Given the description of an element on the screen output the (x, y) to click on. 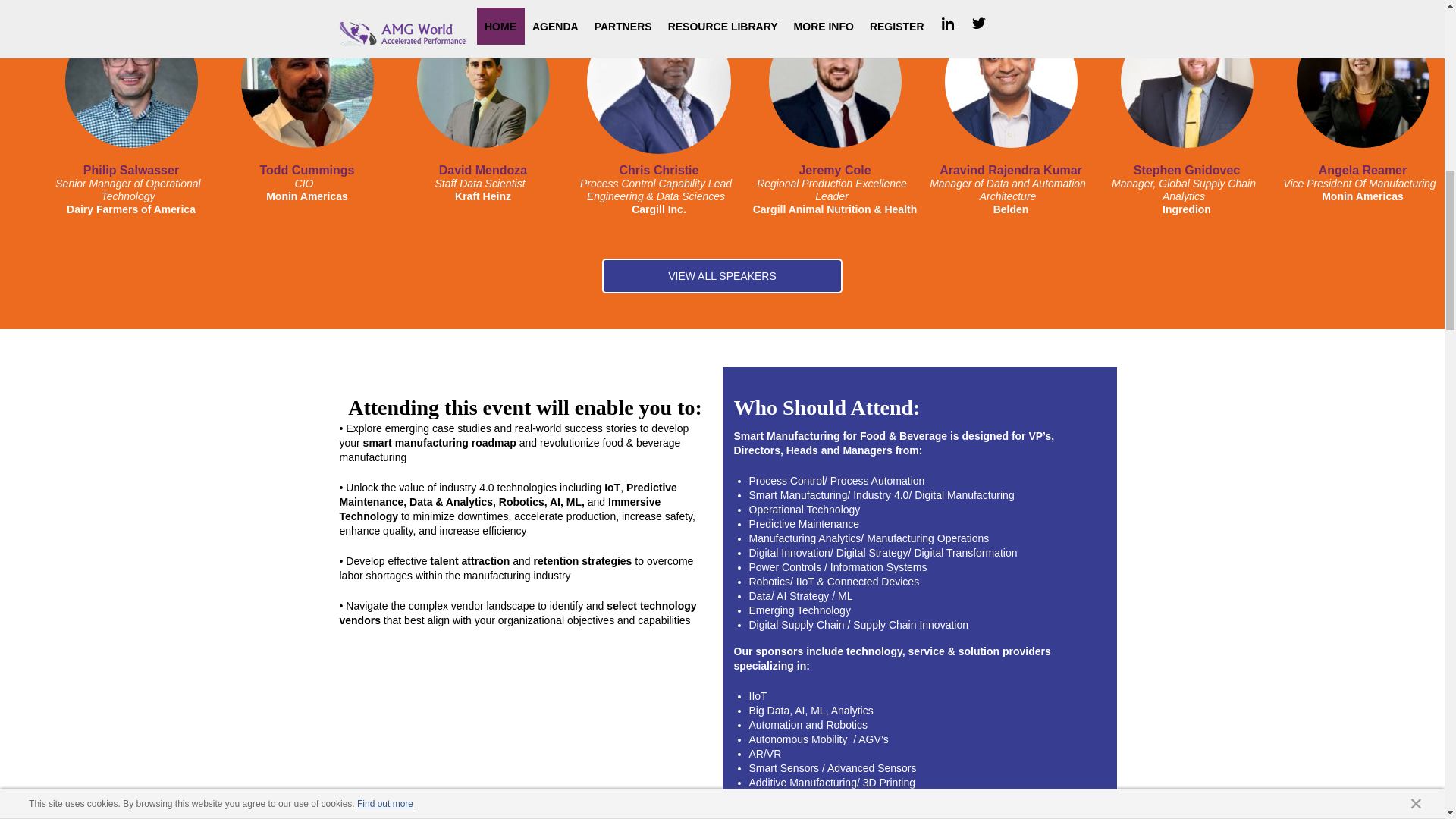
Stephen Gnidovec (1187, 169)
Chris Christie, Cargill Inc. (658, 81)
Jeremy Cole (833, 169)
Philip Salwasser (130, 169)
Angela Reamer, Monin Americas (1363, 81)
David Mendoza, Kraft Heinz (483, 81)
Todd Cummings, Monin Americas (307, 81)
Todd Cummings (306, 169)
Aravind Rajendra Kumar, Belden (1010, 81)
Aravind Rajendra Kumar (1010, 169)
Stephen Gnidovec, Ingredion (1187, 81)
David Mendoza (483, 169)
Philip Salwasser, Dairy Farmers of America (131, 81)
Angela Reamer (1363, 169)
